Given the description of an element on the screen output the (x, y) to click on. 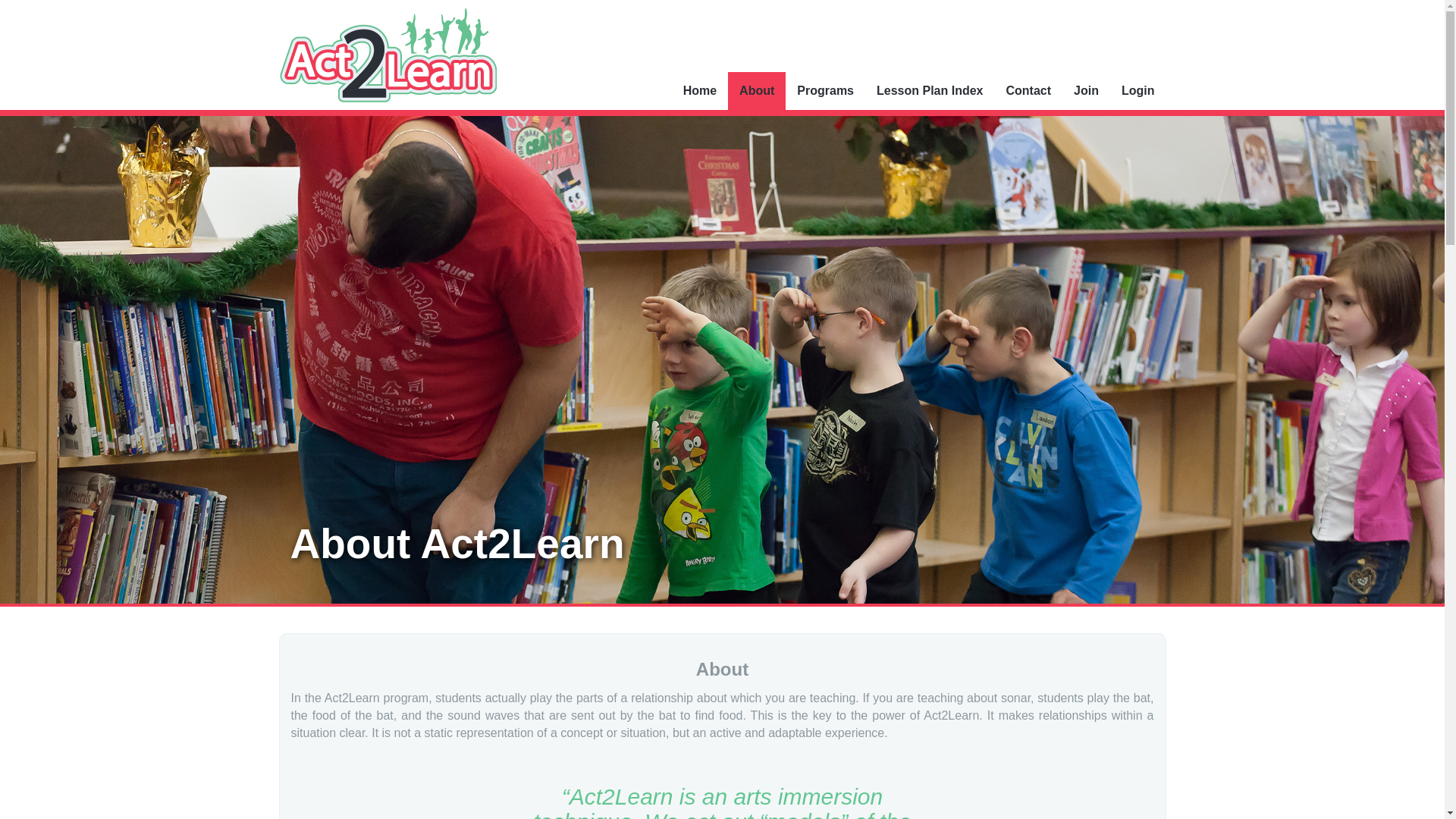
Login (1137, 90)
About (757, 90)
Join (1085, 90)
Programs (825, 90)
Lesson Plan Index (929, 90)
Home (699, 90)
Contact (1028, 90)
